Given the description of an element on the screen output the (x, y) to click on. 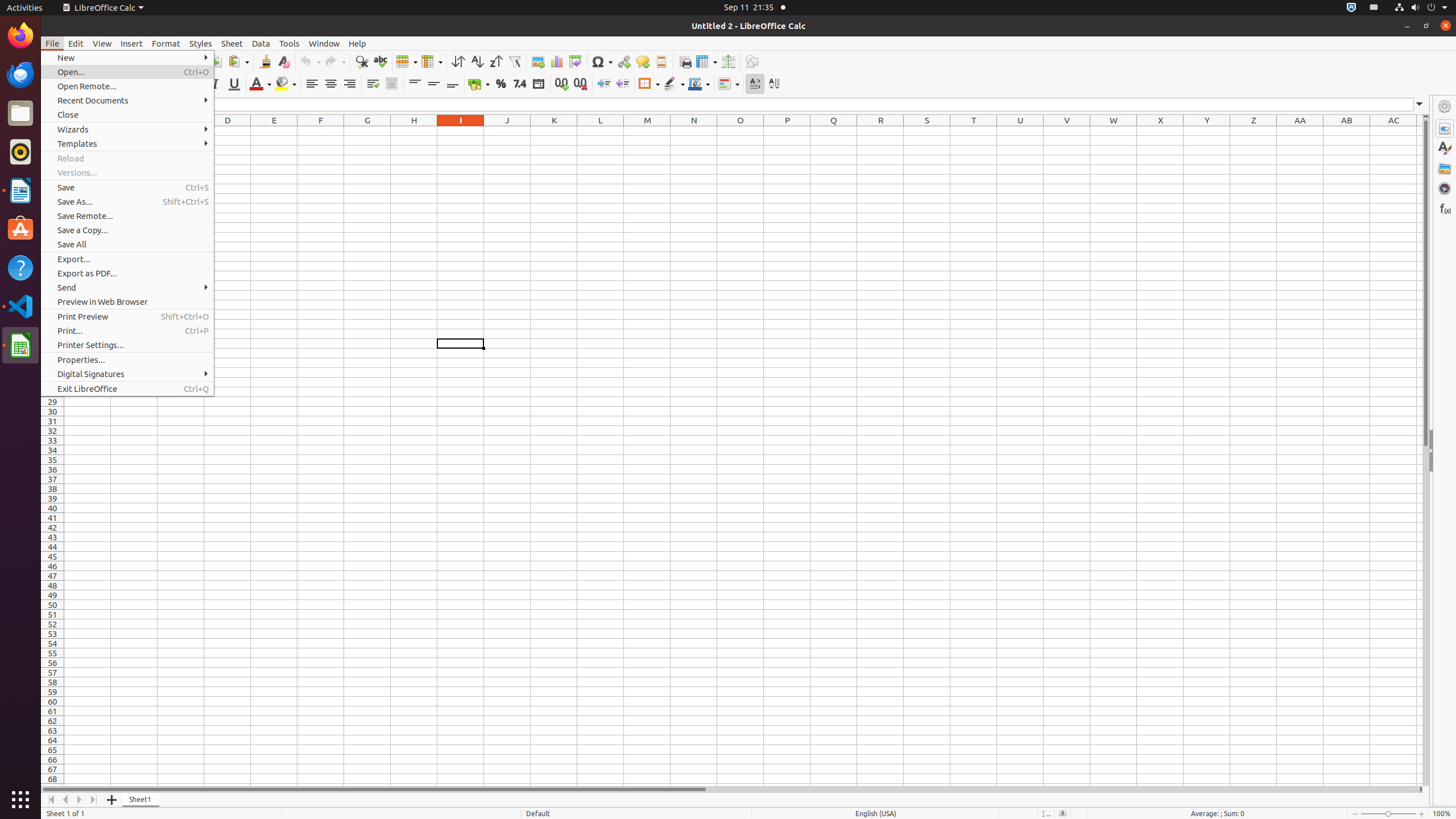
Align Top Element type: push-button (414, 83)
Save All Element type: menu-item (126, 244)
Functions Element type: radio-button (1444, 208)
V1 Element type: table-cell (1066, 130)
